Given the description of an element on the screen output the (x, y) to click on. 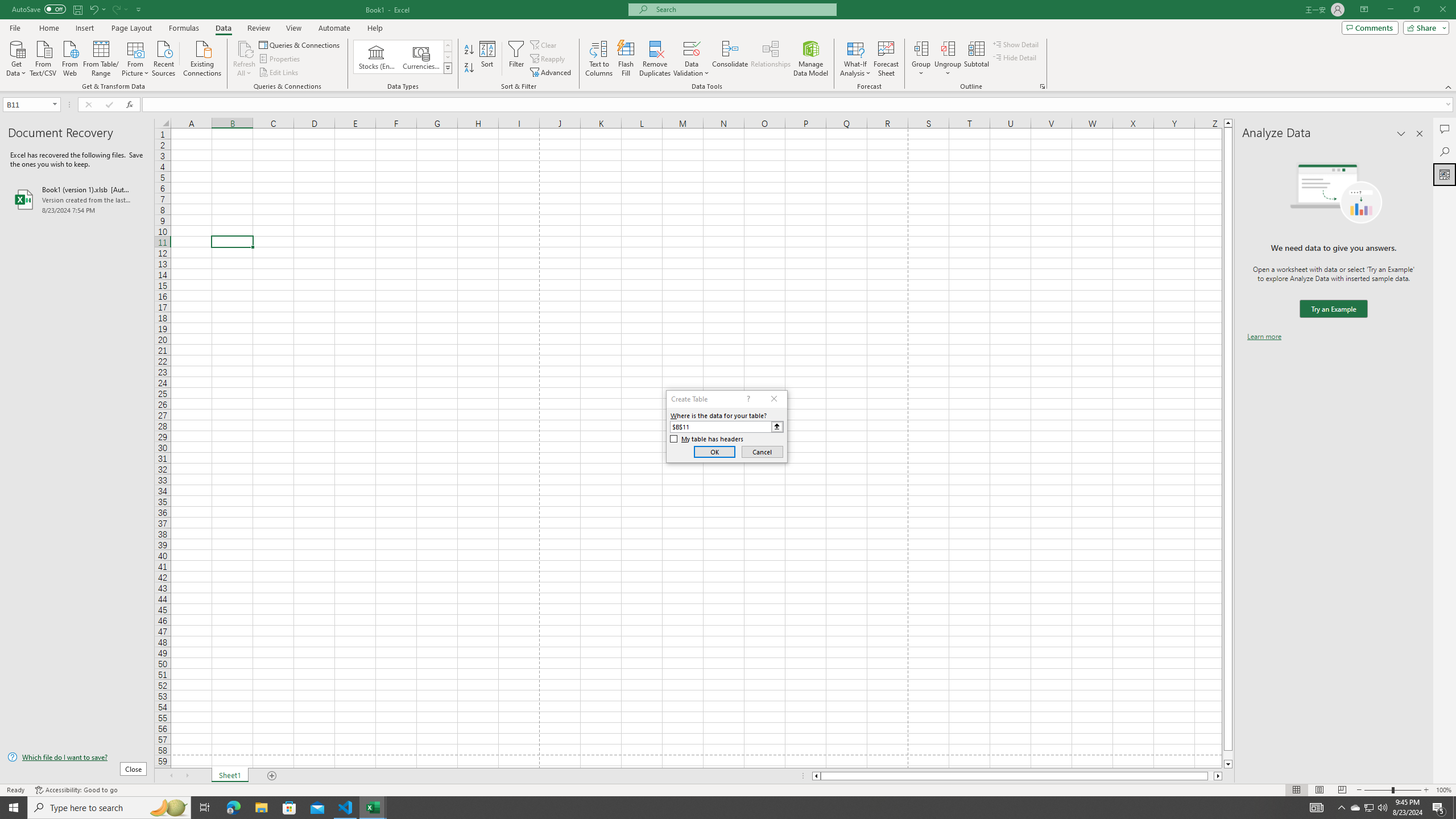
Show Detail (1016, 44)
Group and Outline Settings (1042, 85)
Learn more (1264, 336)
